Given the description of an element on the screen output the (x, y) to click on. 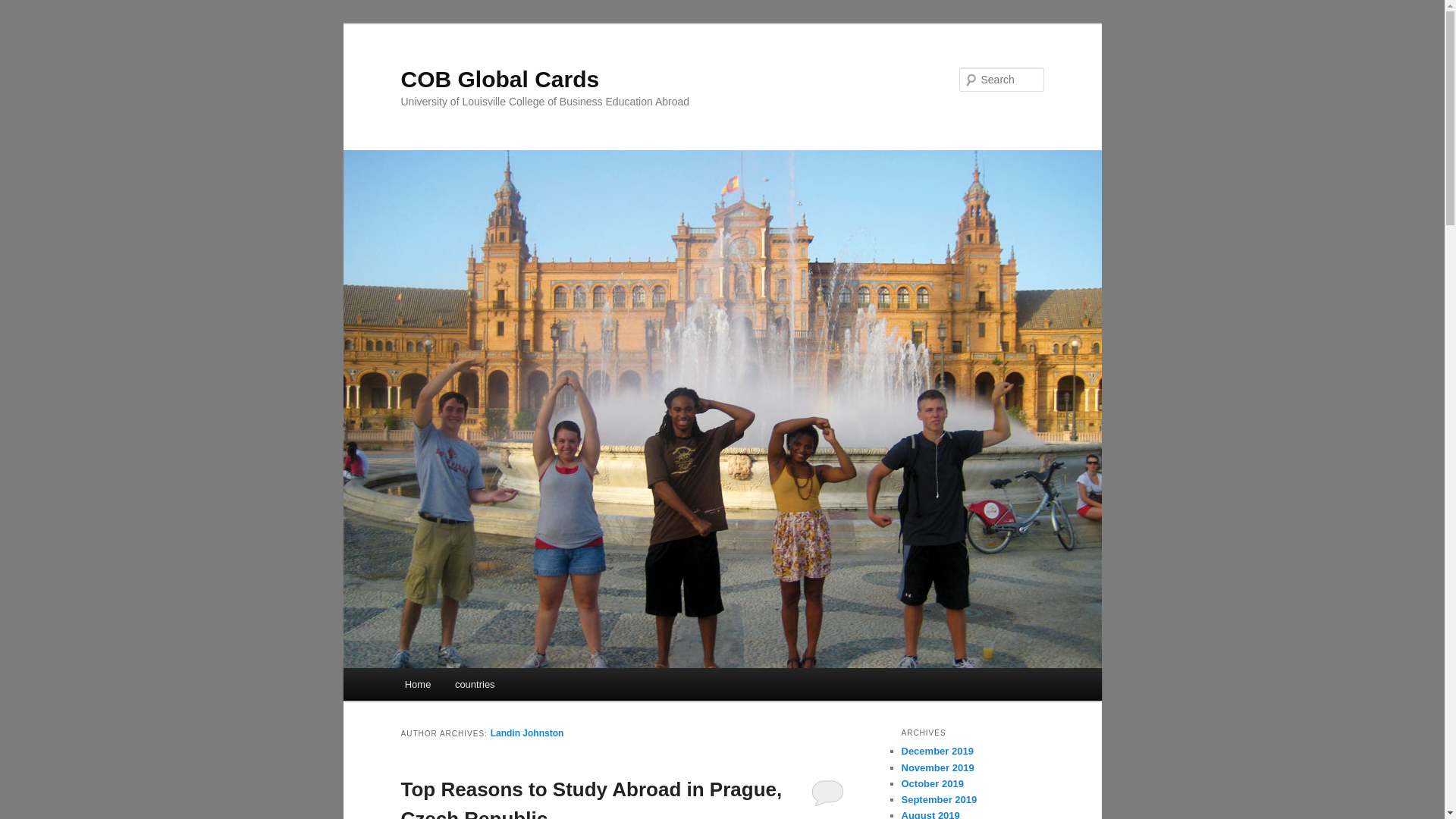
Skip to primary content (472, 686)
Skip to secondary content (479, 686)
Skip to primary content (472, 686)
October 2019 (931, 783)
September 2019 (938, 799)
Landin Johnston (527, 733)
December 2019 (936, 750)
COB Global Cards (499, 78)
COB Global Cards  (499, 78)
countries (474, 684)
Top Reasons to Study Abroad in Prague, Czech Republic (590, 798)
November 2019 (937, 767)
Home (417, 684)
Landin Johnston (527, 733)
Search (24, 8)
